Given the description of an element on the screen output the (x, y) to click on. 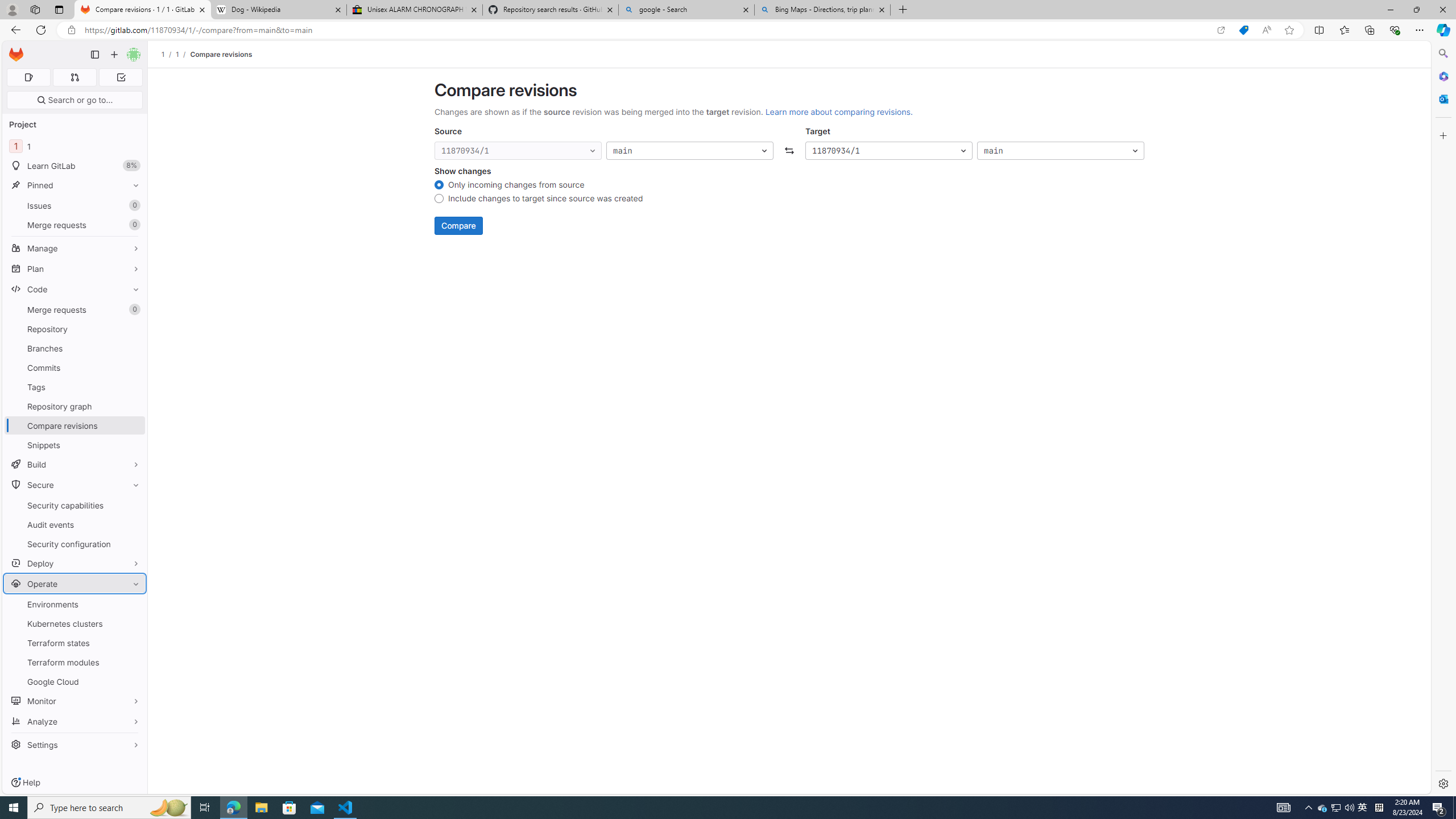
Terraform states (74, 642)
Pin Snippets (132, 445)
Branches (74, 348)
Issues 0 (74, 205)
Pin Branches (132, 348)
Compare revisions (220, 53)
Build (74, 464)
Terraform states (74, 642)
Audit events (74, 524)
